Given the description of an element on the screen output the (x, y) to click on. 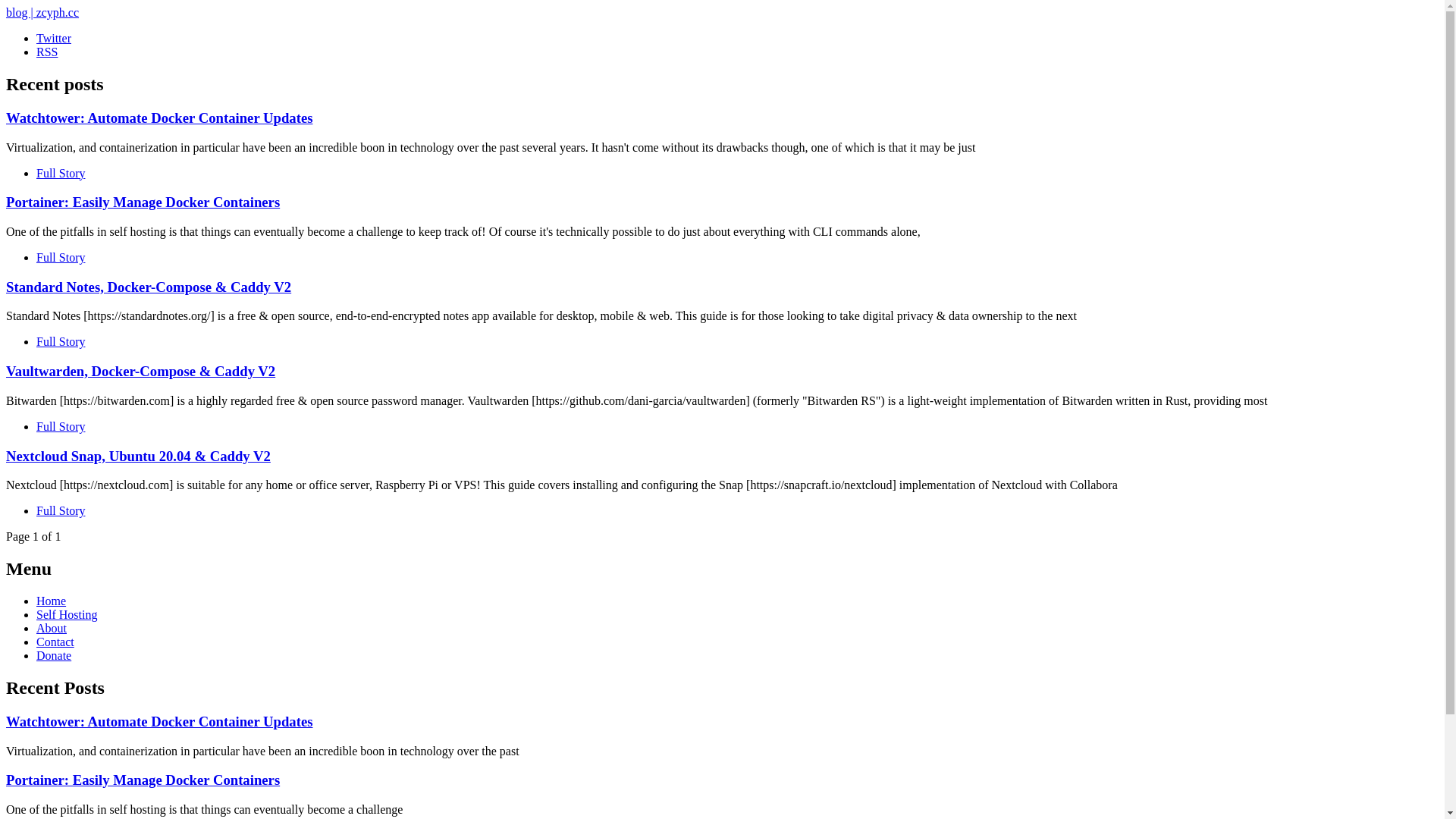
Watchtower: Automate Docker Container Updates Element type: text (159, 117)
Donate Element type: text (53, 655)
Self Hosting Element type: text (66, 614)
Portainer: Easily Manage Docker Containers Element type: text (142, 202)
Portainer: Easily Manage Docker Containers Element type: text (142, 779)
Full Story Element type: text (60, 341)
Full Story Element type: text (60, 510)
Watchtower: Automate Docker Container Updates Element type: text (159, 721)
RSS Element type: text (46, 51)
Nextcloud Snap, Ubuntu 20.04 & Caddy V2 Element type: text (138, 456)
Standard Notes, Docker-Compose & Caddy V2 Element type: text (148, 286)
Home Element type: text (50, 600)
Vaultwarden, Docker-Compose & Caddy V2 Element type: text (140, 371)
Full Story Element type: text (60, 426)
blog | zcyph.cc Element type: text (42, 12)
Full Story Element type: text (60, 172)
Full Story Element type: text (60, 257)
About Element type: text (51, 627)
Contact Element type: text (55, 641)
Twitter Element type: text (53, 37)
